Given the description of an element on the screen output the (x, y) to click on. 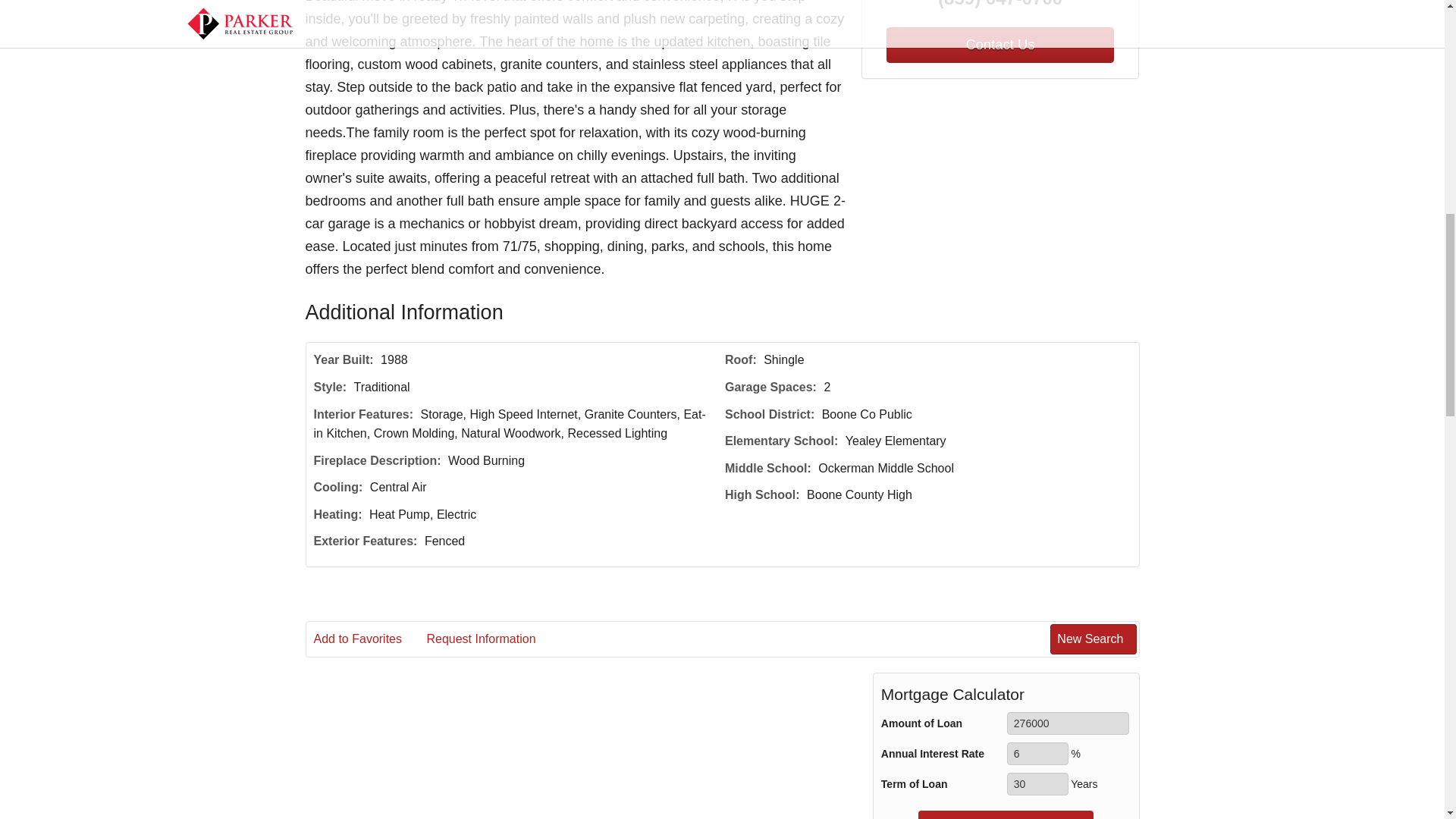
276000 (1068, 722)
30 (1037, 784)
Contact Us (999, 45)
6 (1037, 753)
